Given the description of an element on the screen output the (x, y) to click on. 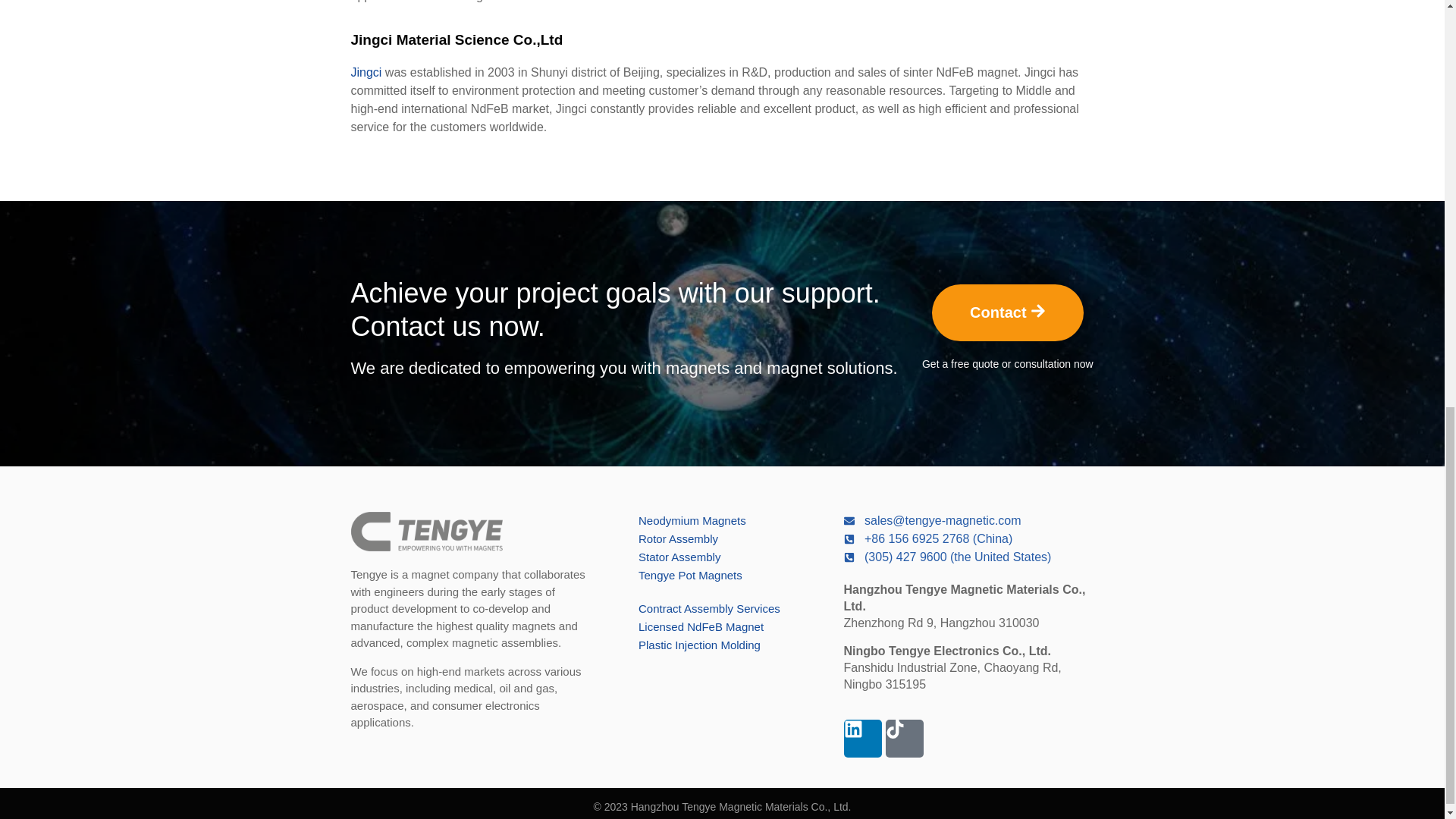
Rotor Assembly (725, 538)
Neodymium Magnets (725, 520)
Jingci (365, 72)
Plastic Injection Molding (725, 645)
Licensed NdFeB Magnet (725, 627)
Contact (1007, 312)
Stator Assembly (725, 556)
Tengye Pot Magnets (725, 575)
Contract Assembly Services (725, 608)
